Given the description of an element on the screen output the (x, y) to click on. 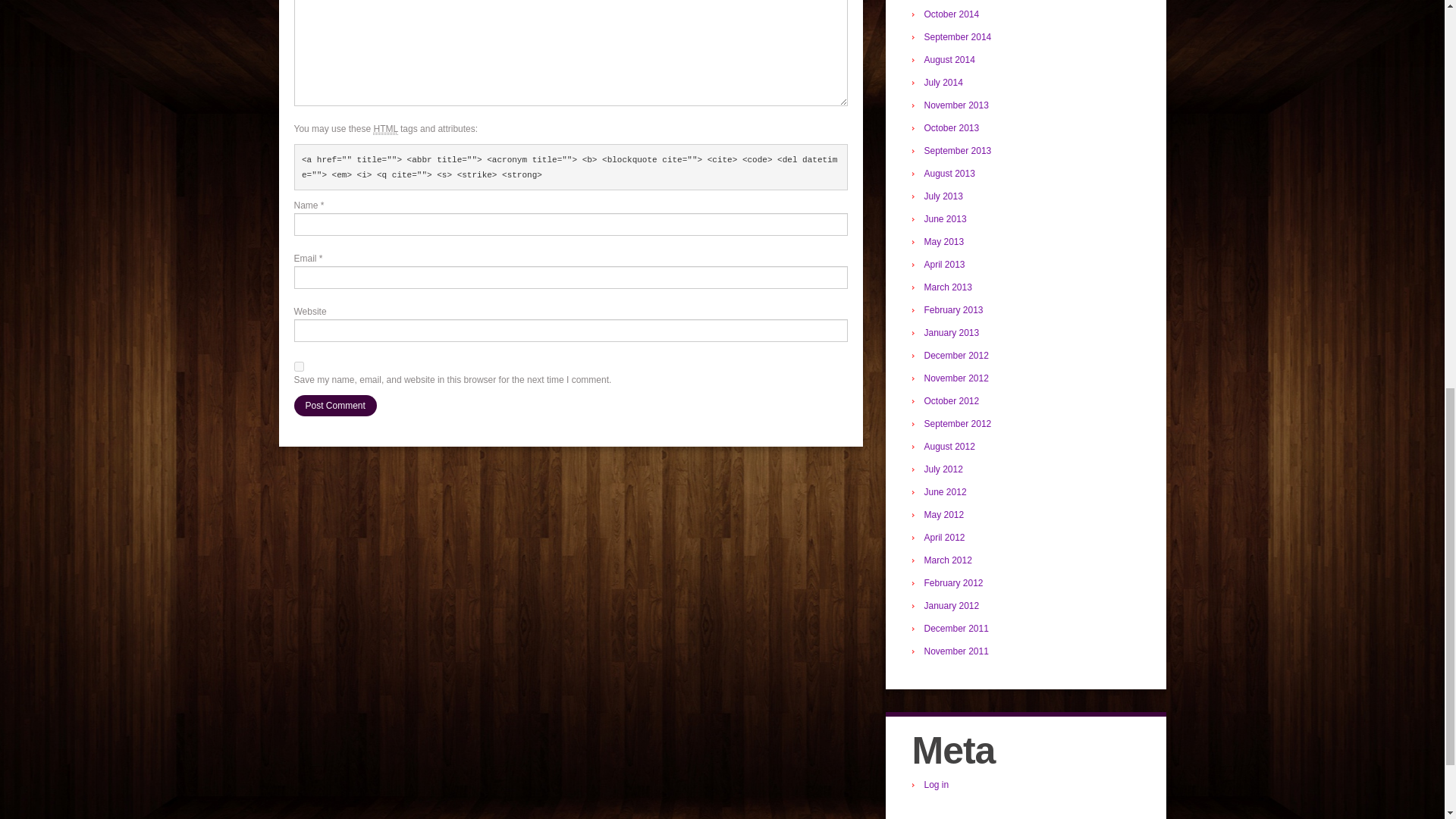
Post Comment (335, 405)
August 2014 (948, 59)
October 2014 (950, 14)
September 2014 (957, 36)
November 2013 (955, 104)
HyperText Markup Language (384, 129)
Post Comment (335, 405)
July 2014 (942, 81)
yes (299, 366)
